Given the description of an element on the screen output the (x, y) to click on. 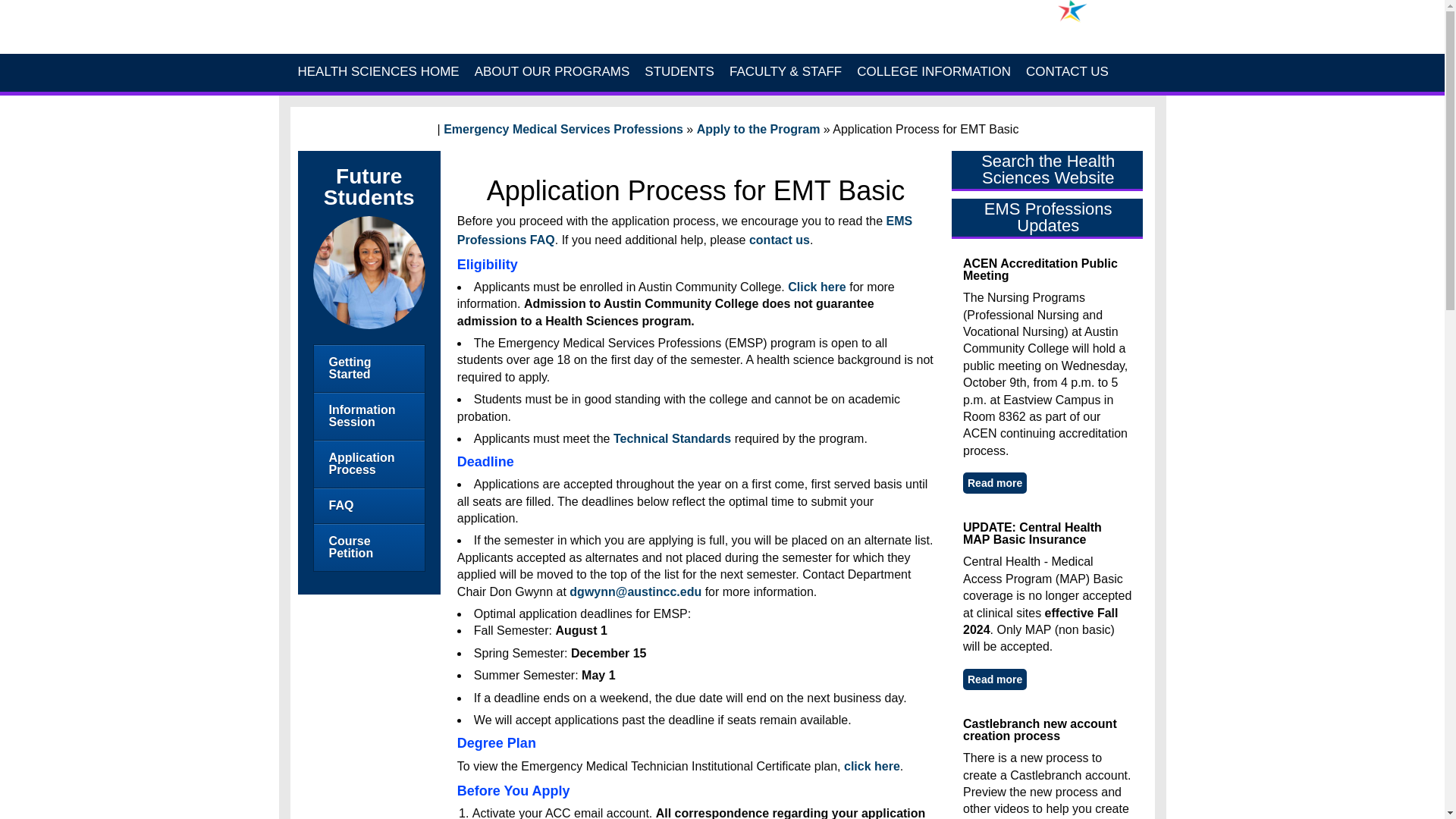
ABOUT OUR PROGRAMS (552, 72)
Health Sciences Home (377, 72)
CONTACT US (1066, 72)
About Our Programs (552, 72)
Students (679, 72)
STUDENTS (679, 72)
COLLEGE INFORMATION (932, 72)
HEALTH SCIENCES HOME (377, 72)
Health Sciences (536, 35)
